Given the description of an element on the screen output the (x, y) to click on. 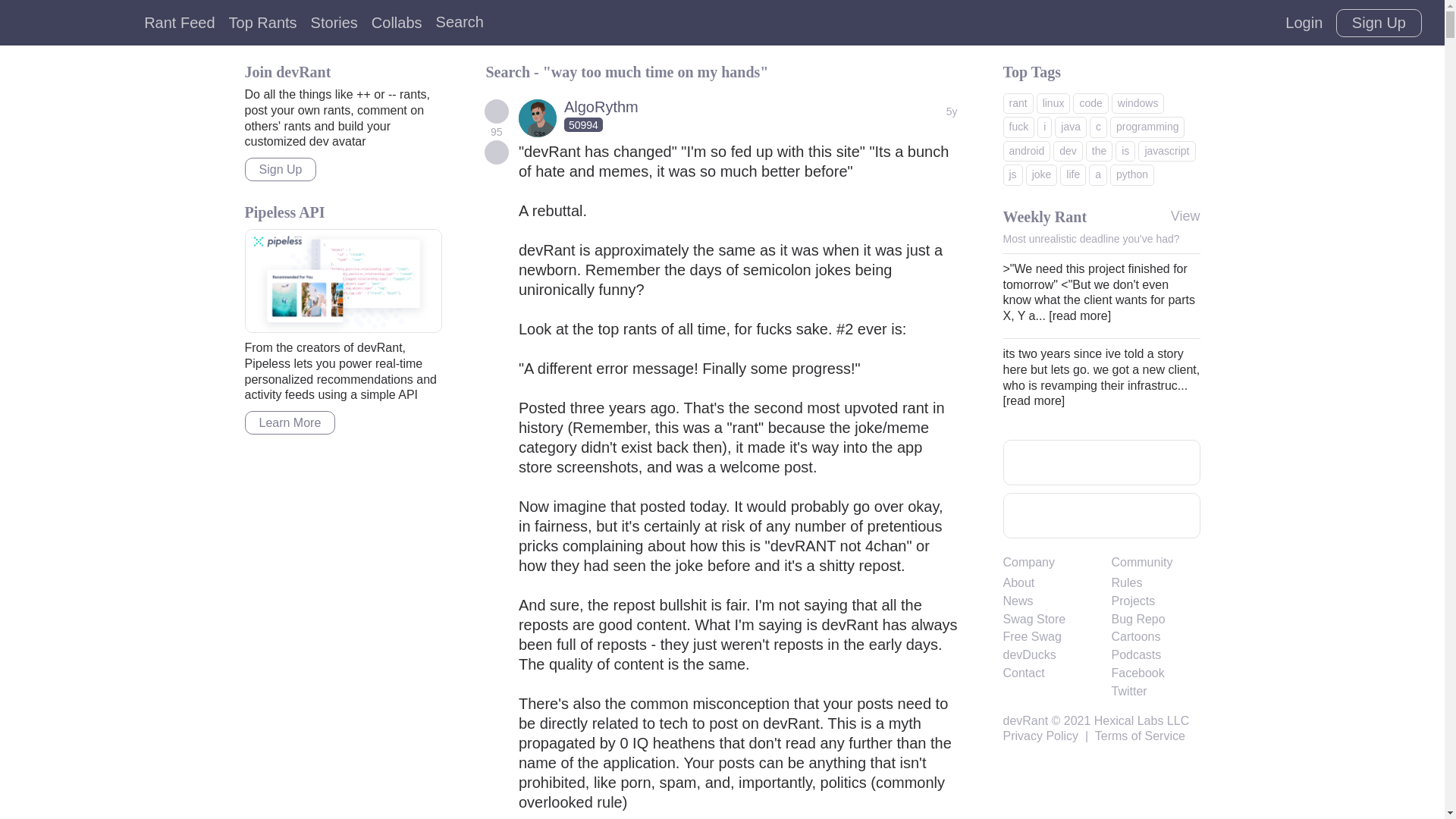
Learn about Pipeless (342, 280)
